Given the description of an element on the screen output the (x, y) to click on. 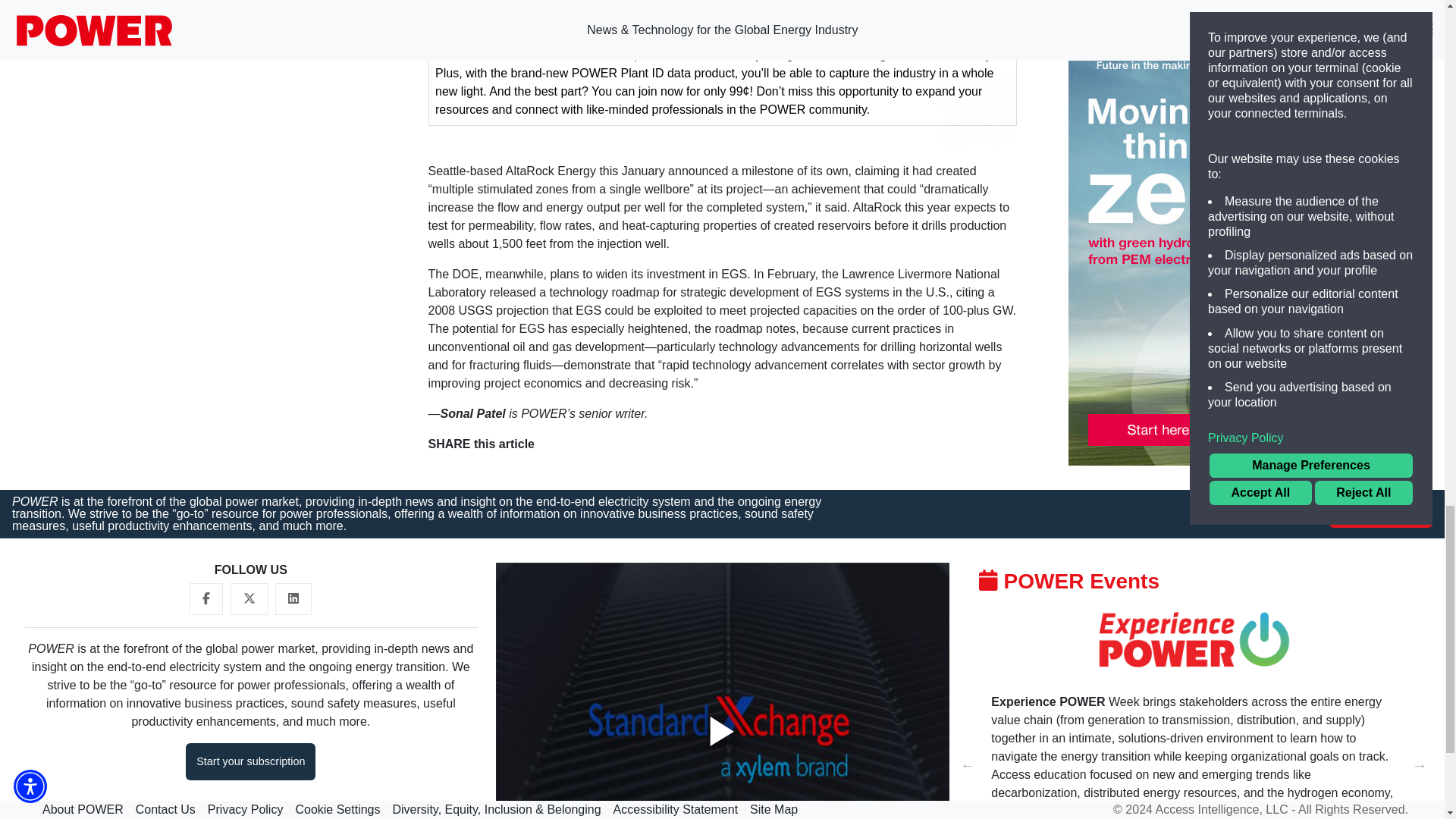
3rd party ad content (1181, 74)
3rd party ad content (722, 73)
